Given the description of an element on the screen output the (x, y) to click on. 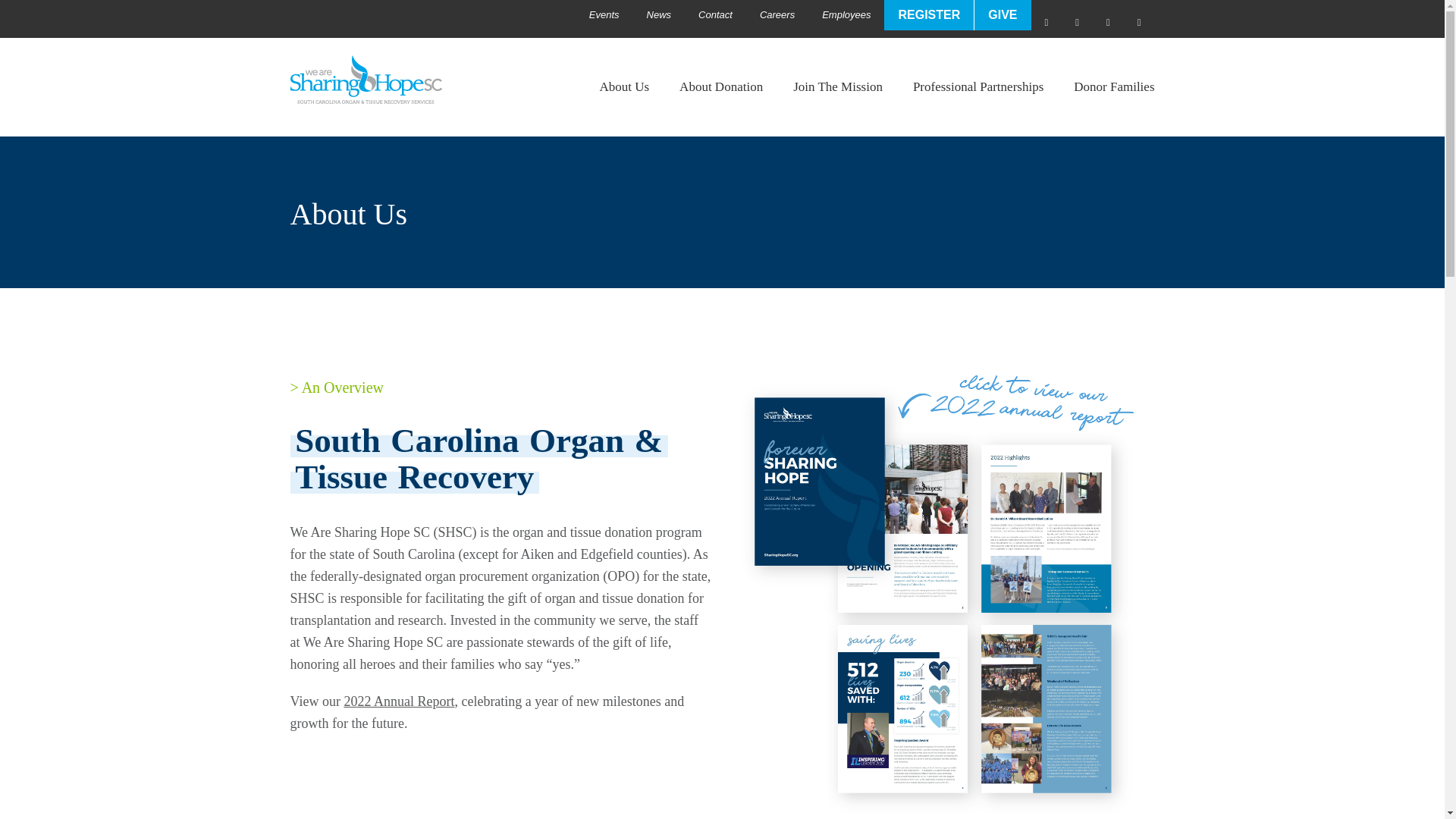
Employees (845, 15)
Contact (714, 15)
Join The Mission (837, 86)
Events (604, 15)
Donor Families (1114, 86)
Careers (776, 15)
GIVE (1002, 15)
News (659, 15)
About Donation (720, 86)
2022 Annual Report (398, 701)
REGISTER (928, 15)
Professional Partnerships (977, 86)
About Us (623, 86)
